Given the description of an element on the screen output the (x, y) to click on. 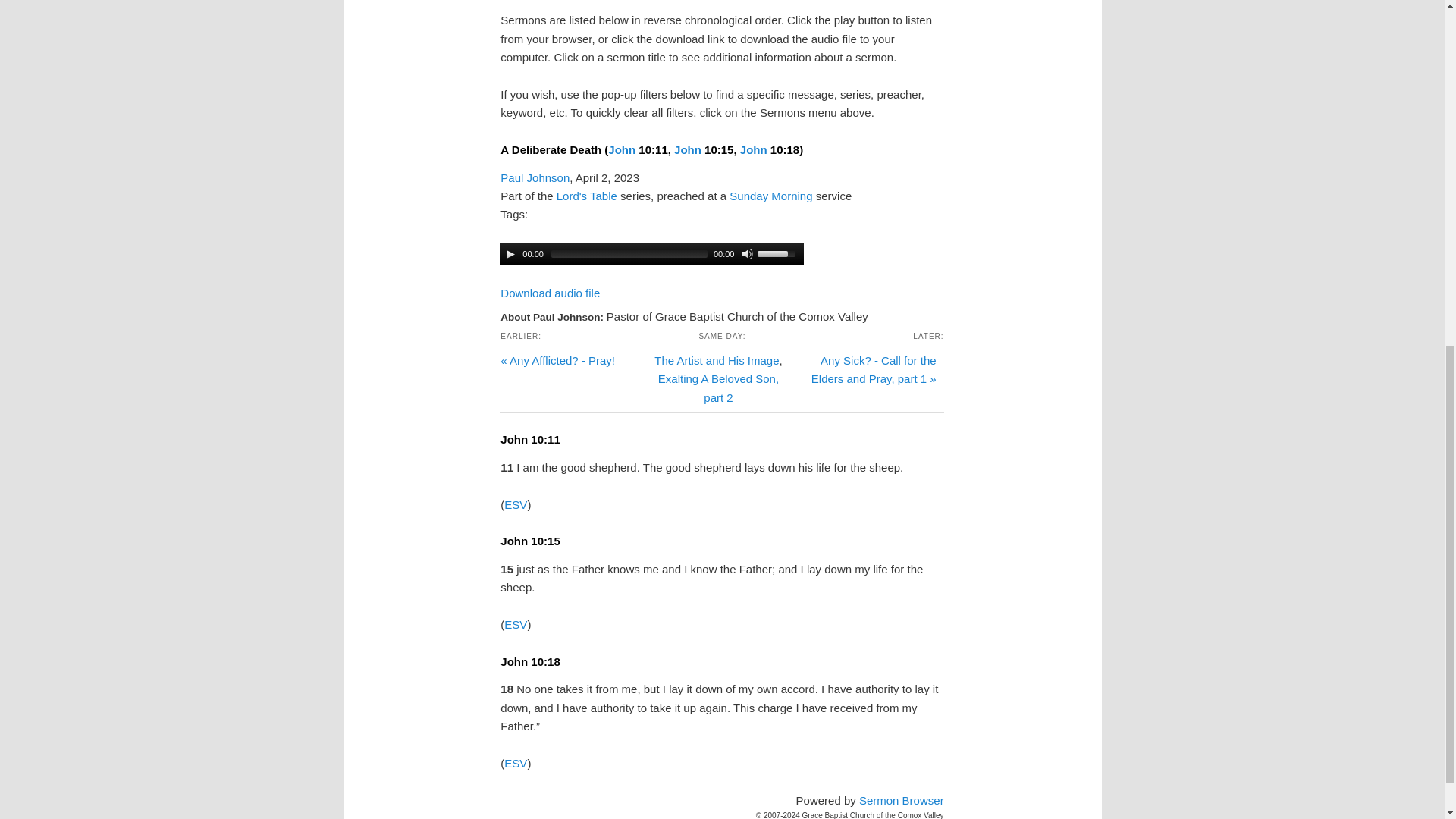
John (687, 149)
Lord's Table (586, 195)
Download audio file (549, 292)
The Artist and His Image (715, 359)
ESV (515, 624)
ESV (515, 504)
Sermon Browser (901, 799)
Paul Johnson (534, 177)
Sunday Morning (770, 195)
John (621, 149)
Exalting A Beloved Son, part 2 (718, 387)
John (753, 149)
ESV (515, 762)
Mute Toggle (747, 254)
